Given the description of an element on the screen output the (x, y) to click on. 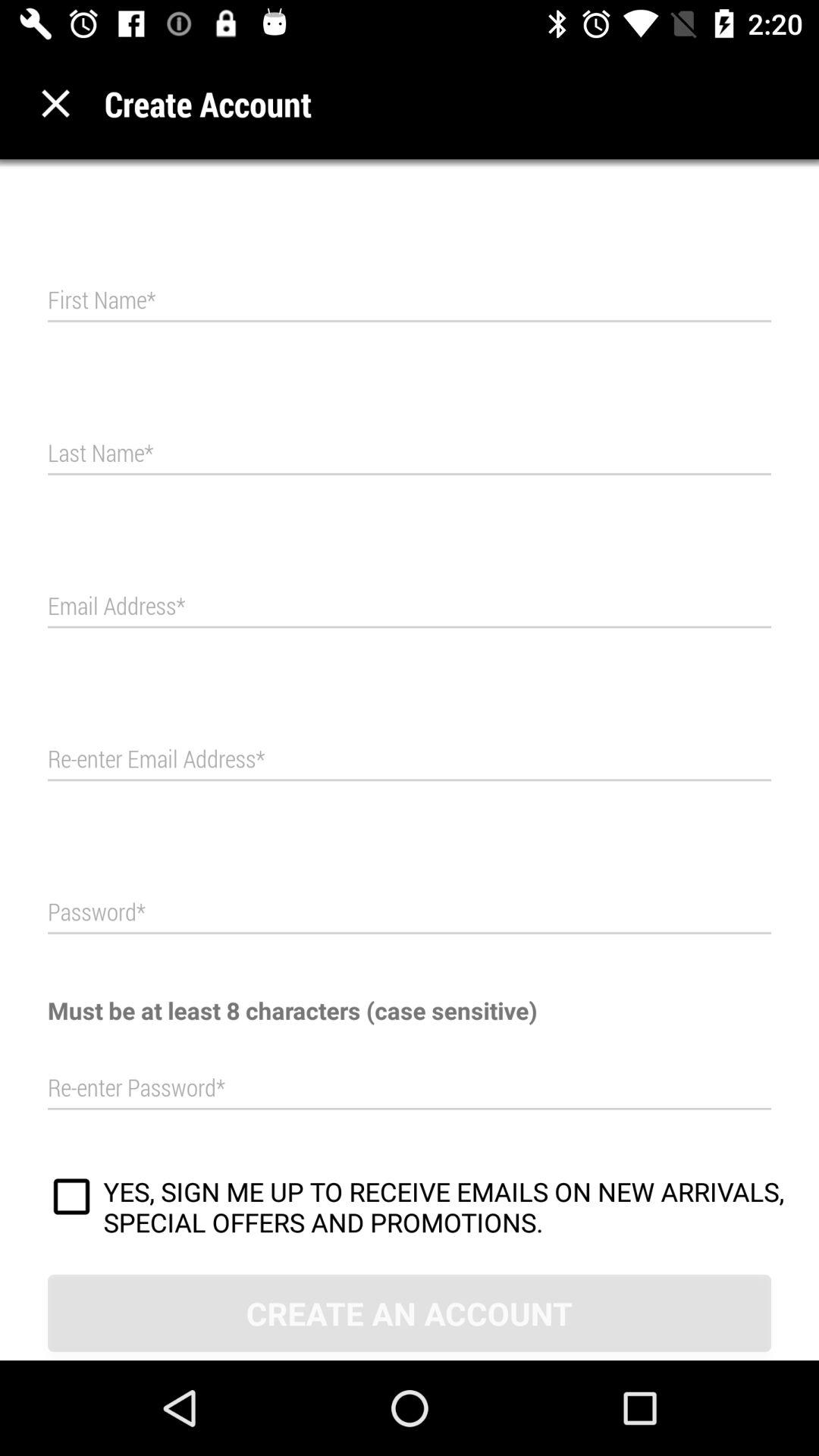
text box (409, 912)
